Given the description of an element on the screen output the (x, y) to click on. 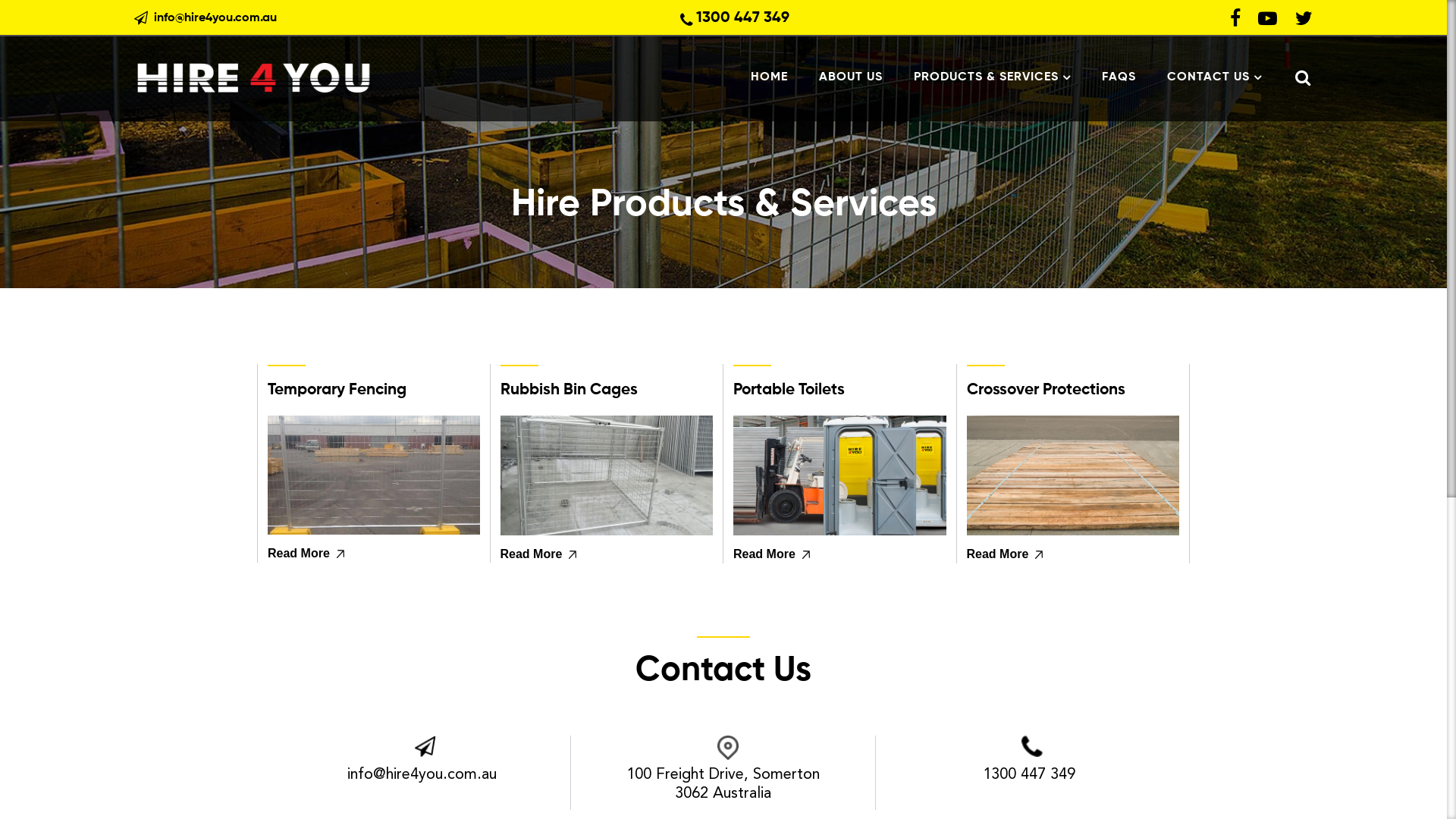
Read More Element type: text (531, 553)
Read More Element type: text (997, 553)
1300 447 349 Element type: text (1028, 774)
Read More Element type: text (764, 553)
Portable Toilets Element type: text (839, 383)
Crossover Protections Element type: text (1072, 383)
info@hire4you.com.au Element type: text (421, 774)
Temporary Fencing Element type: text (373, 383)
PRODUCTS & SERVICES Element type: text (991, 77)
CONTACT US Element type: text (1206, 77)
Rubbish Bin Cages Element type: text (606, 383)
HOME Element type: text (776, 77)
ABOUT US Element type: text (850, 77)
FAQS Element type: text (1118, 77)
Read More Element type: text (298, 552)
info@hire4you.com.au Element type: text (214, 18)
1300 447 349 Element type: text (742, 19)
